Given the description of an element on the screen output the (x, y) to click on. 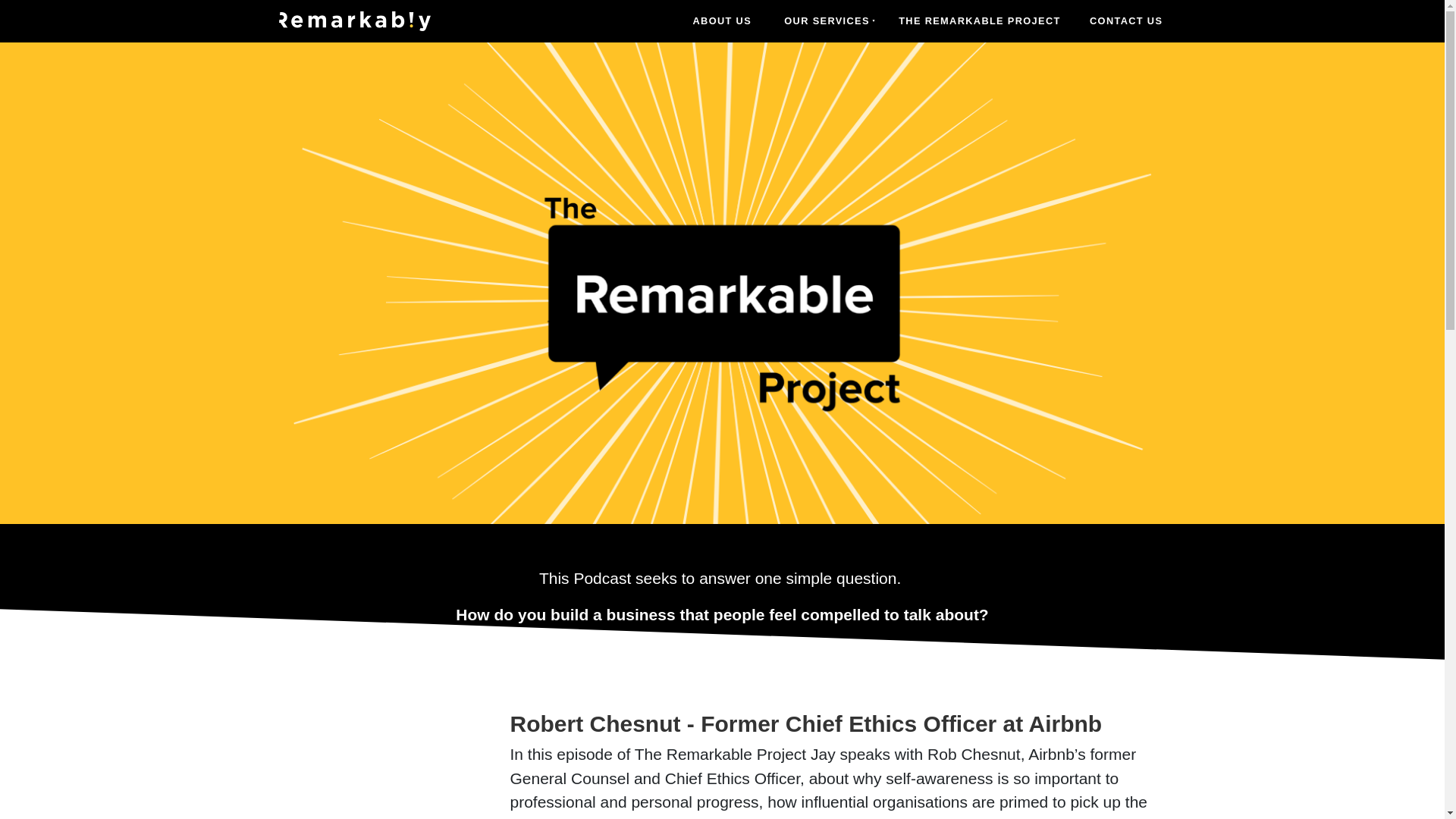
CONTACT US (1126, 20)
ABOUT US (721, 20)
OUR SERVICES (824, 20)
THE REMARKABLE PROJECT (979, 20)
